Given the description of an element on the screen output the (x, y) to click on. 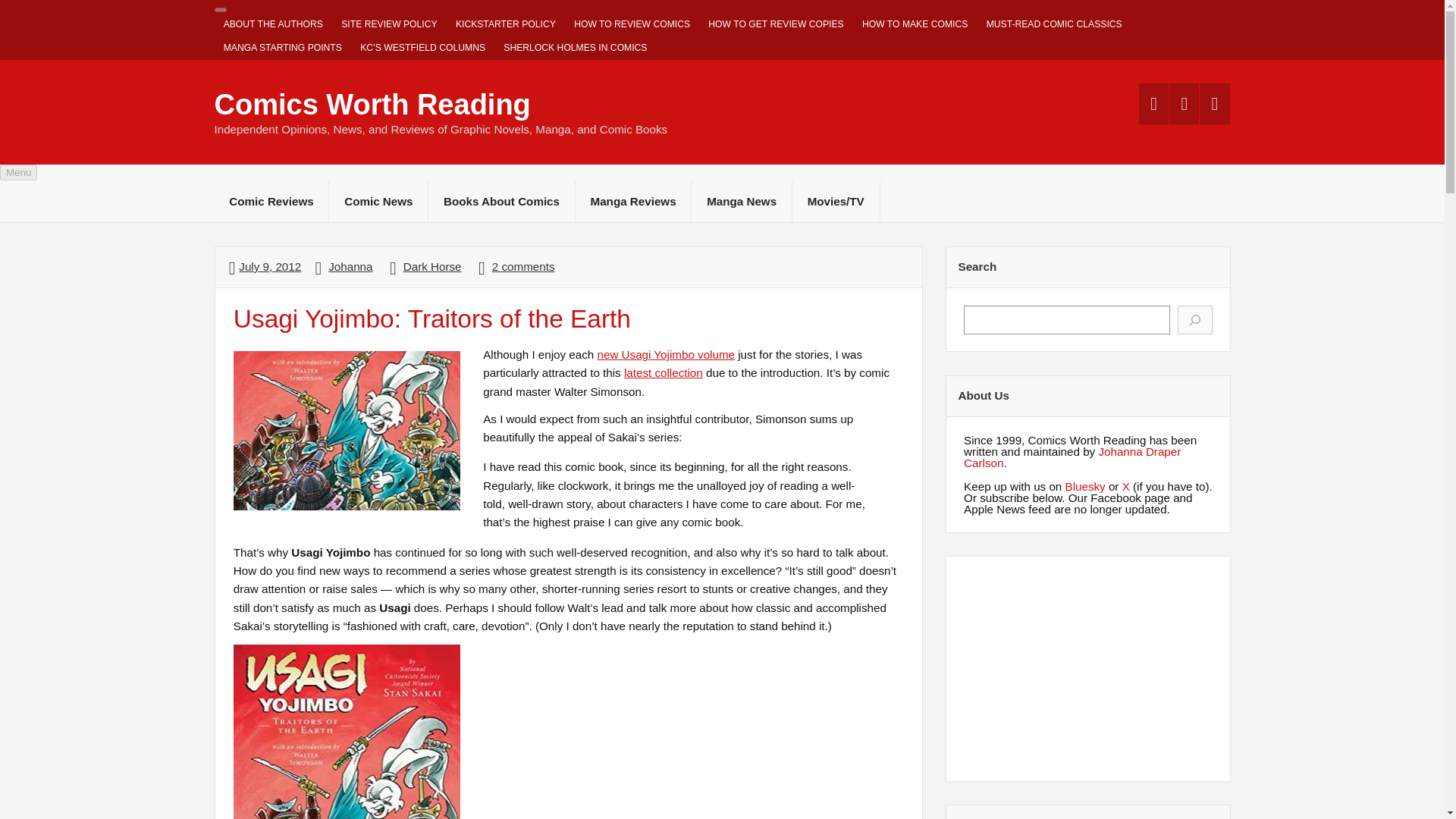
Advertisement (1087, 668)
Comics Worth Reading (371, 104)
2 comments (523, 266)
new Usagi Yojimbo volume (665, 354)
HOW TO GET REVIEW COPIES (775, 24)
MANGA STARTING POINTS (282, 48)
Dark Horse (432, 266)
KICKSTARTER POLICY (505, 24)
July 9, 2012 (269, 266)
HOW TO MAKE COMICS (914, 24)
Books About Comics (501, 200)
MUST-READ COMIC CLASSICS (1053, 24)
Manga News (741, 200)
Johanna (350, 266)
11:12 am (269, 266)
